Given the description of an element on the screen output the (x, y) to click on. 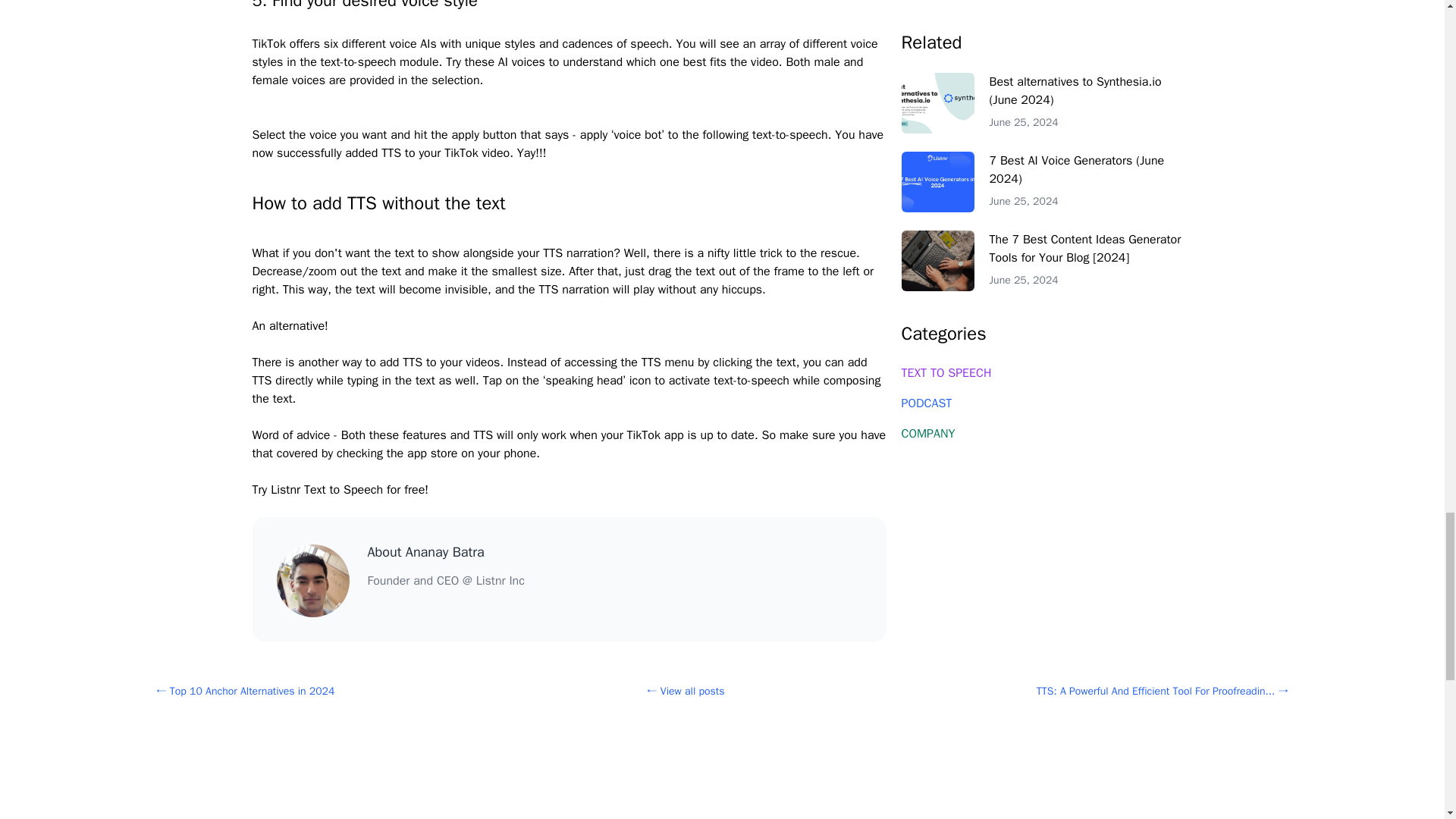
AI voices (520, 61)
Try Listnr Text to Speech for free! (339, 489)
